Given the description of an element on the screen output the (x, y) to click on. 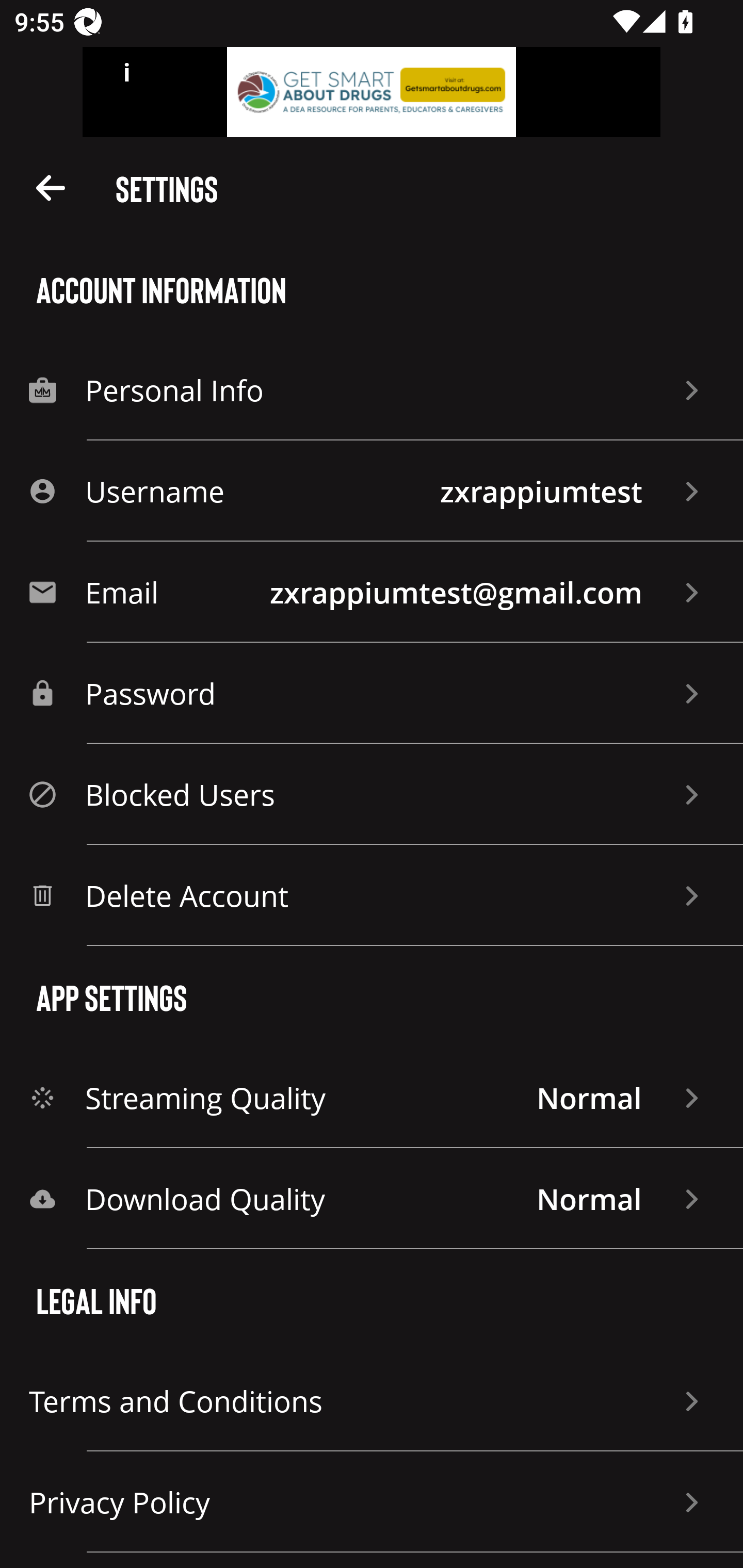
Description (50, 187)
Personal Info (371, 389)
Username zxrappiumtest (371, 490)
Email zxrappiumtest@gmail.com (371, 591)
Password (371, 692)
Blocked Users (371, 794)
Delete Account (371, 895)
Streaming Quality Normal (371, 1097)
Download Quality Normal (371, 1198)
Terms and Conditions (371, 1400)
Privacy Policy (371, 1501)
